Given the description of an element on the screen output the (x, y) to click on. 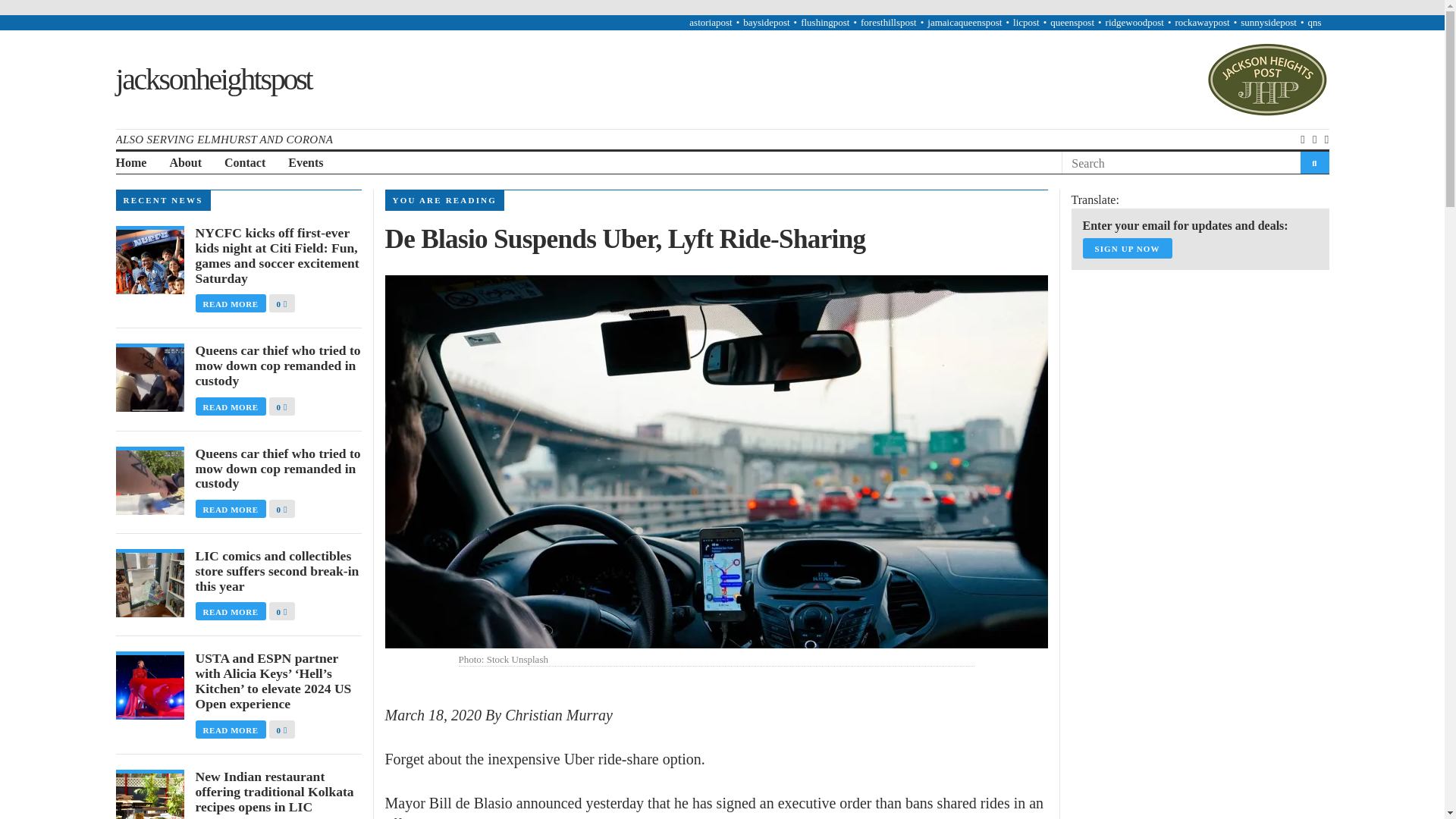
qns (1313, 21)
rockawaypost (1201, 21)
Contact (244, 163)
ridgewoodpost (1134, 21)
sunnysidepost (1268, 21)
astoriapost (710, 21)
jamaicaqueenspost (964, 21)
About (185, 163)
flushingpost (824, 21)
baysidepost (765, 21)
